Given the description of an element on the screen output the (x, y) to click on. 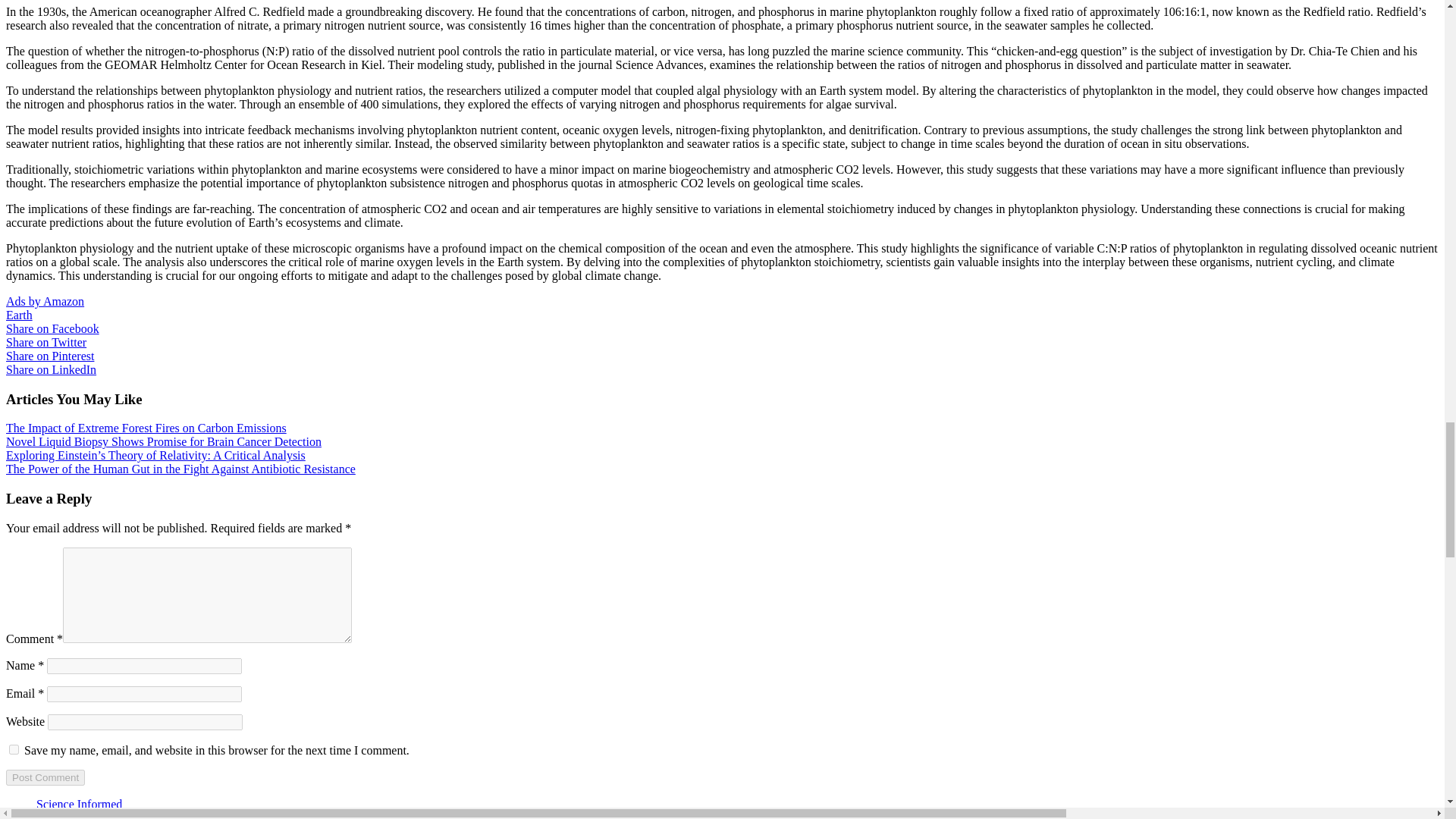
Earth (18, 314)
Post Comment (44, 777)
yes (13, 749)
